Given the description of an element on the screen output the (x, y) to click on. 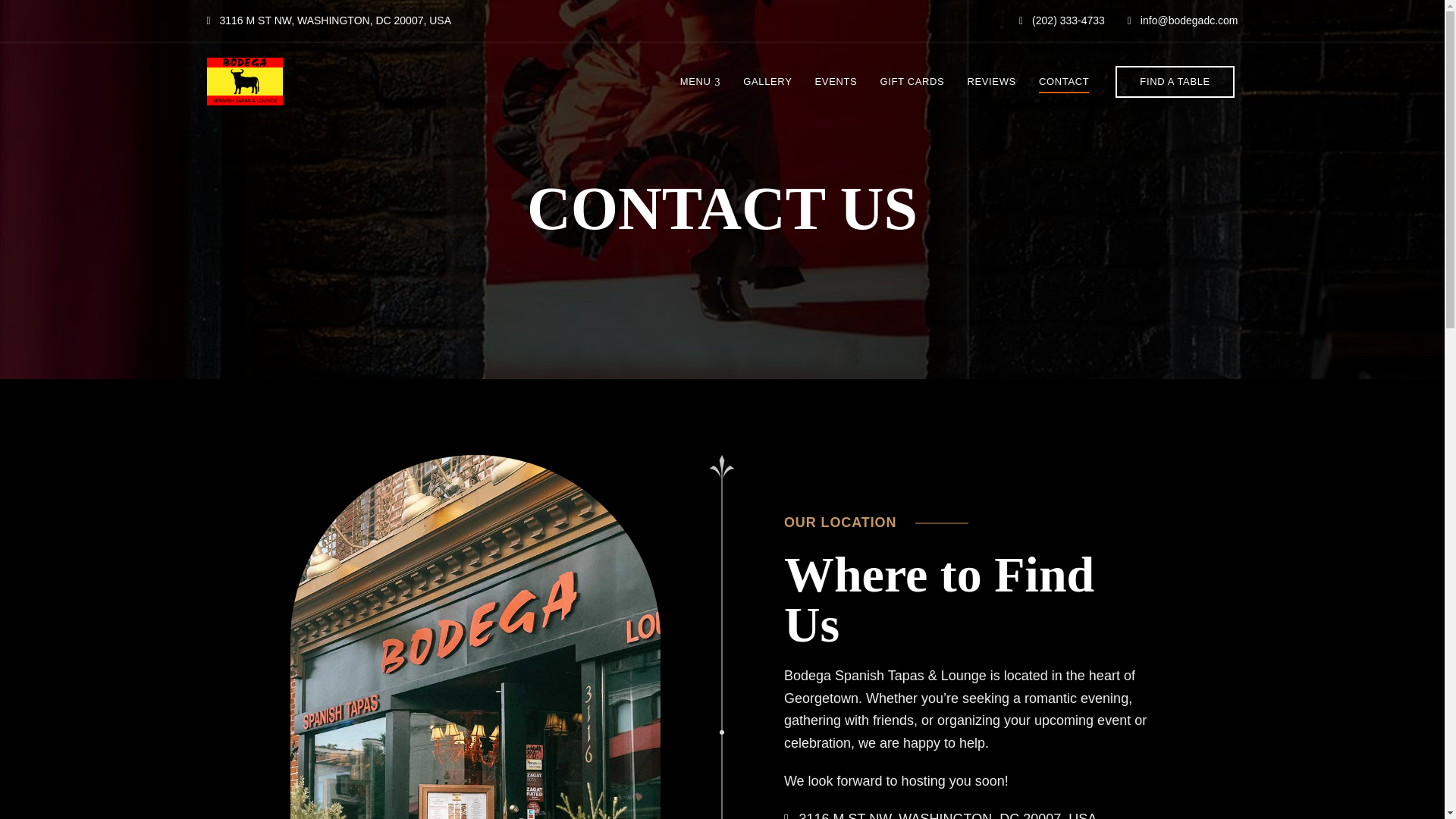
3116 M ST NW, WASHINGTON, DC 20007, USA (328, 20)
MENU (700, 81)
GALLERY (767, 81)
REVIEWS (991, 81)
EVENTS (836, 81)
CONTACT (1063, 81)
GIFT CARDS (911, 81)
FIND A TABLE (1174, 81)
